Given the description of an element on the screen output the (x, y) to click on. 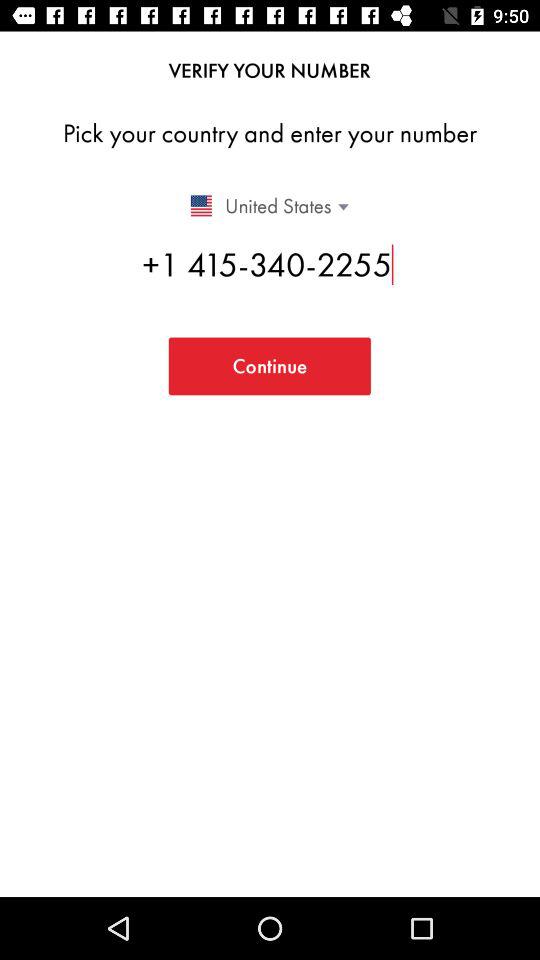
choose 1 415 340 (269, 264)
